Given the description of an element on the screen output the (x, y) to click on. 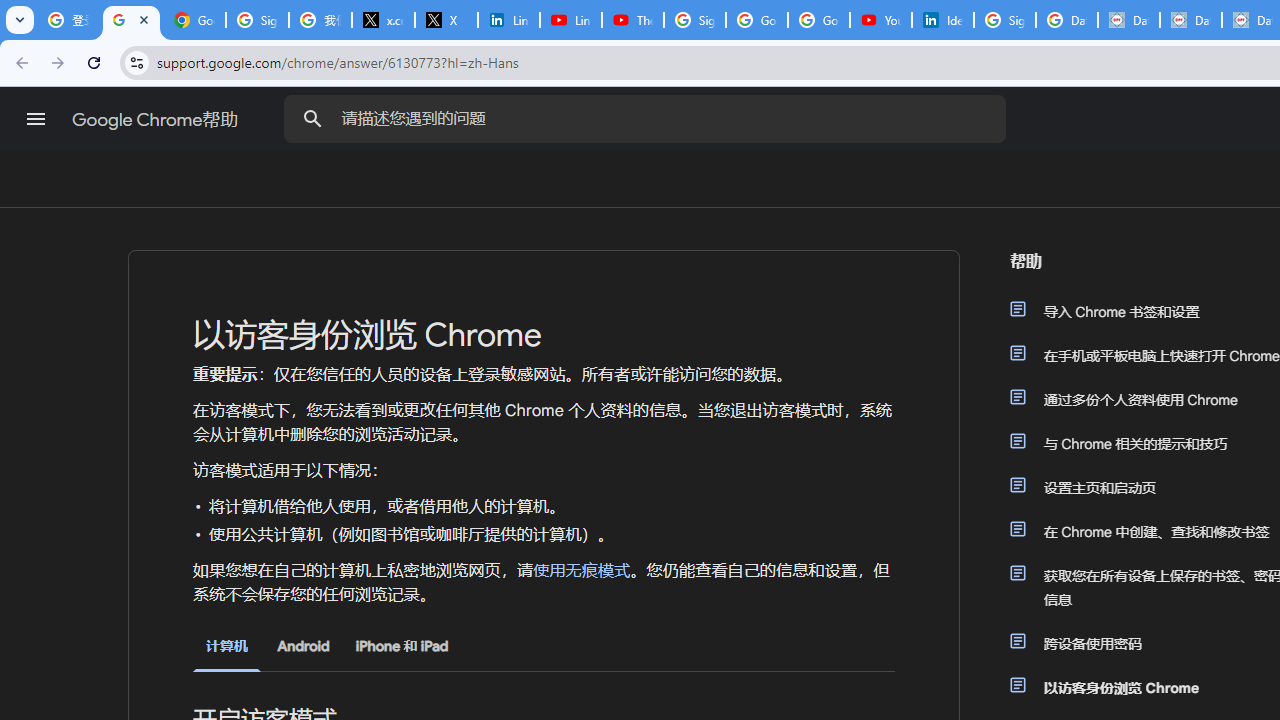
Sign in - Google Accounts (257, 20)
Sign in - Google Accounts (1004, 20)
X (445, 20)
